Given the description of an element on the screen output the (x, y) to click on. 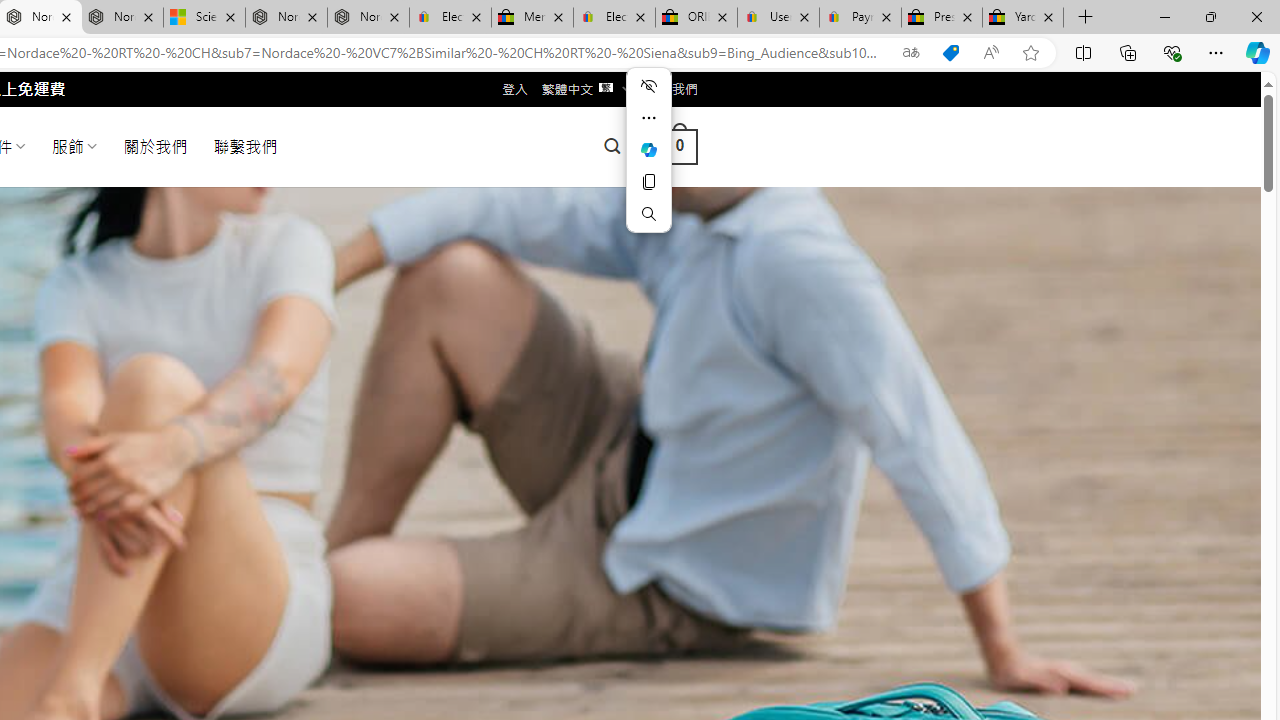
Show translate options (910, 53)
Yard, Garden & Outdoor Living (1023, 17)
Press Room - eBay Inc. (941, 17)
Nordace - Summer Adventures 2024 (285, 17)
Payments Terms of Use | eBay.com (860, 17)
This site has coupons! Shopping in Microsoft Edge (950, 53)
